Given the description of an element on the screen output the (x, y) to click on. 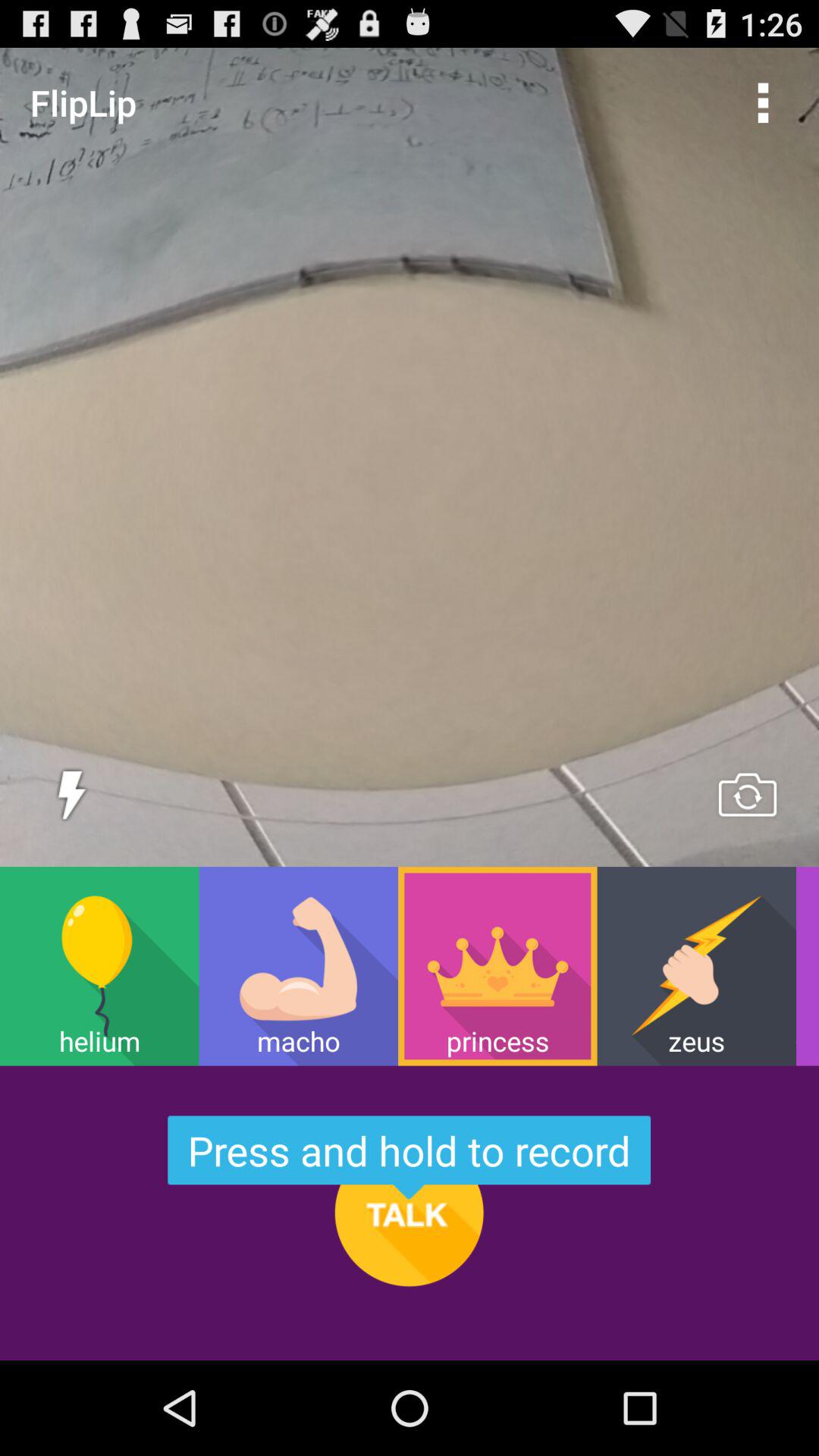
turn off macho icon (298, 965)
